Given the description of an element on the screen output the (x, y) to click on. 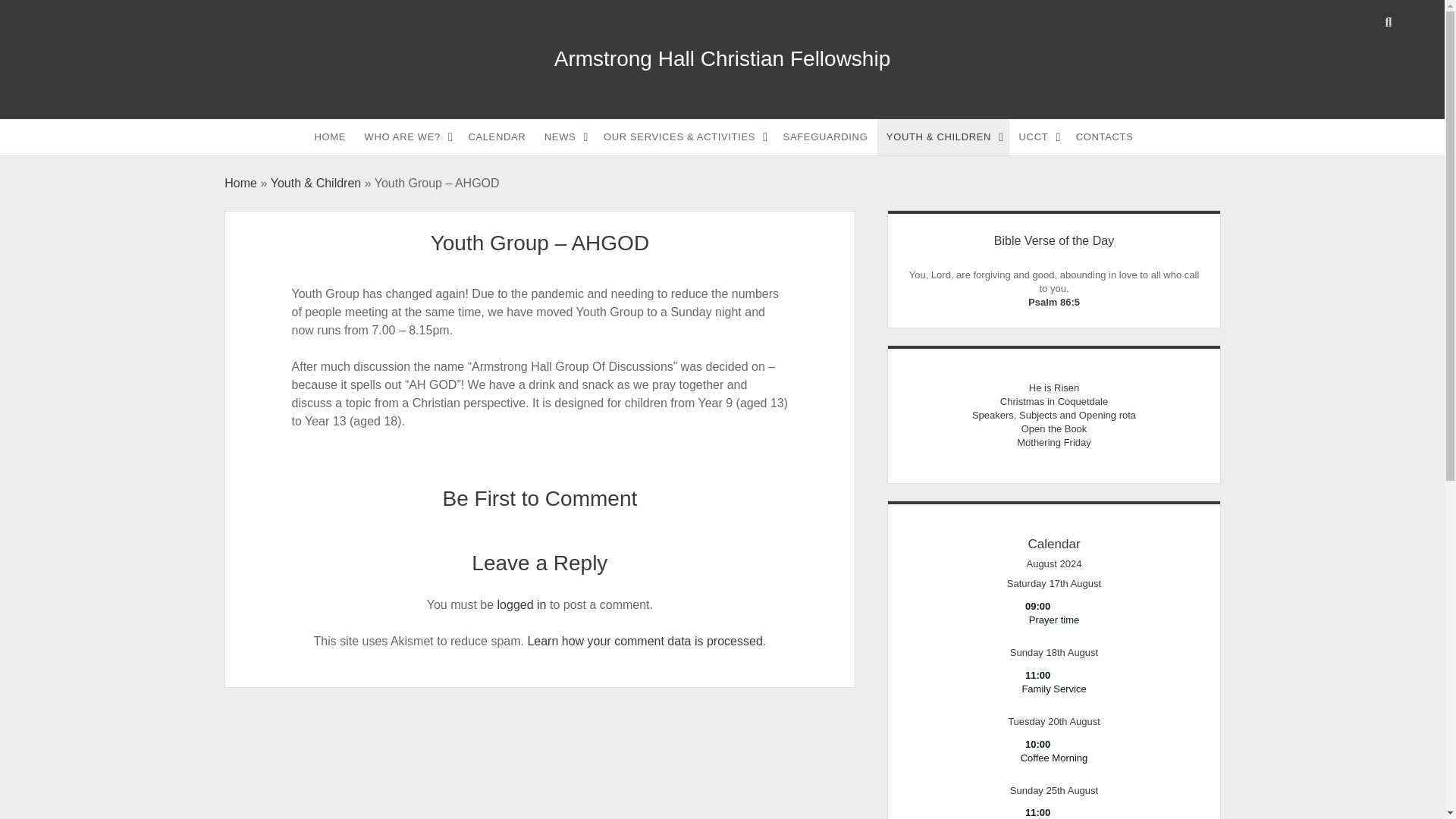
WHO ARE WE? (406, 136)
SAFEGUARDING (825, 136)
NEWS (564, 136)
HOME (330, 136)
CALENDAR (496, 136)
Armstrong Hall Christian Fellowship (721, 58)
